Given the description of an element on the screen output the (x, y) to click on. 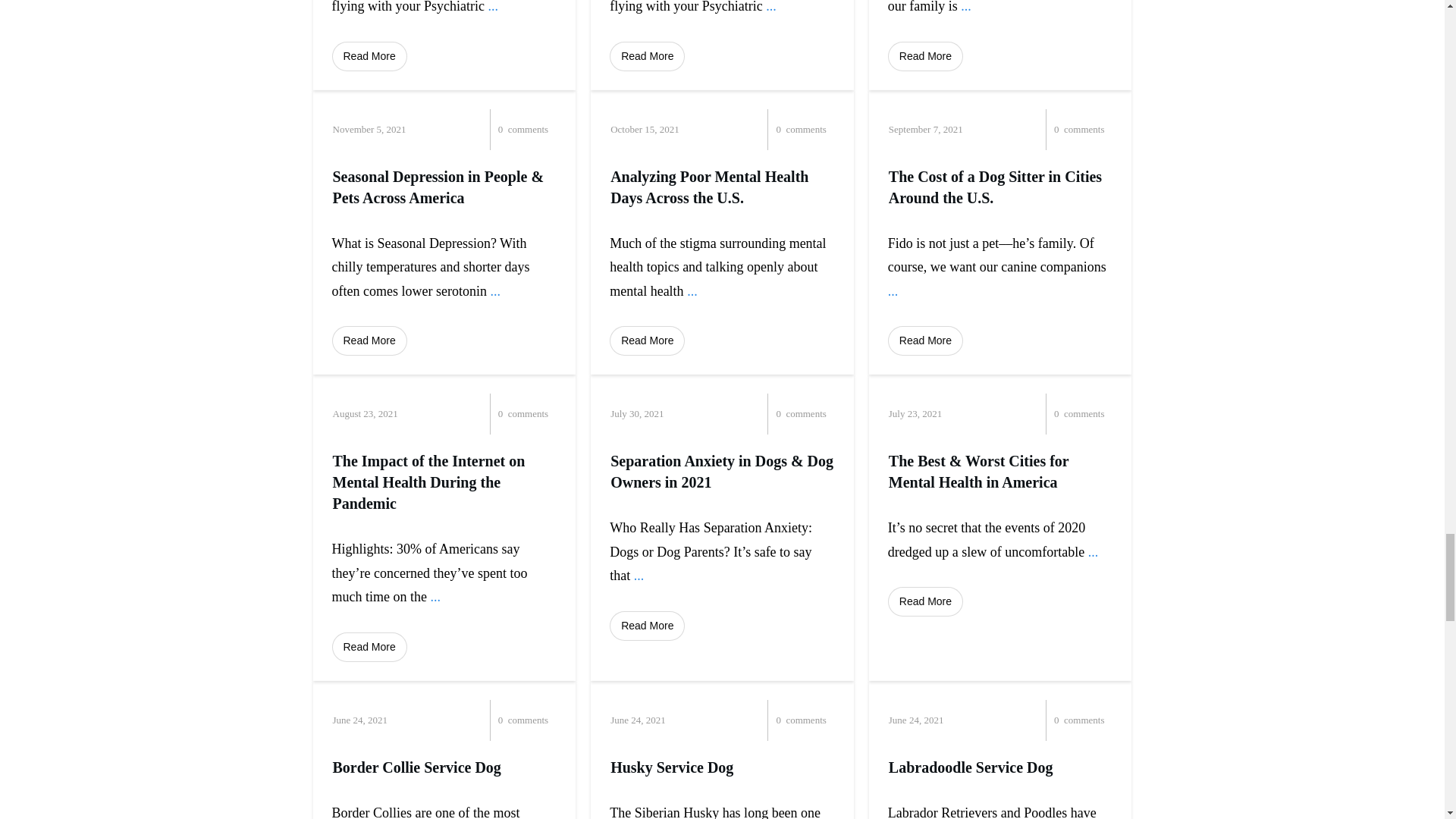
The Cost of a Dog Sitter in Cities Around the U.S. (995, 187)
Border Collie Service Dog (415, 767)
Analyzing Poor Mental Health Days Across the U.S. (709, 187)
